Given the description of an element on the screen output the (x, y) to click on. 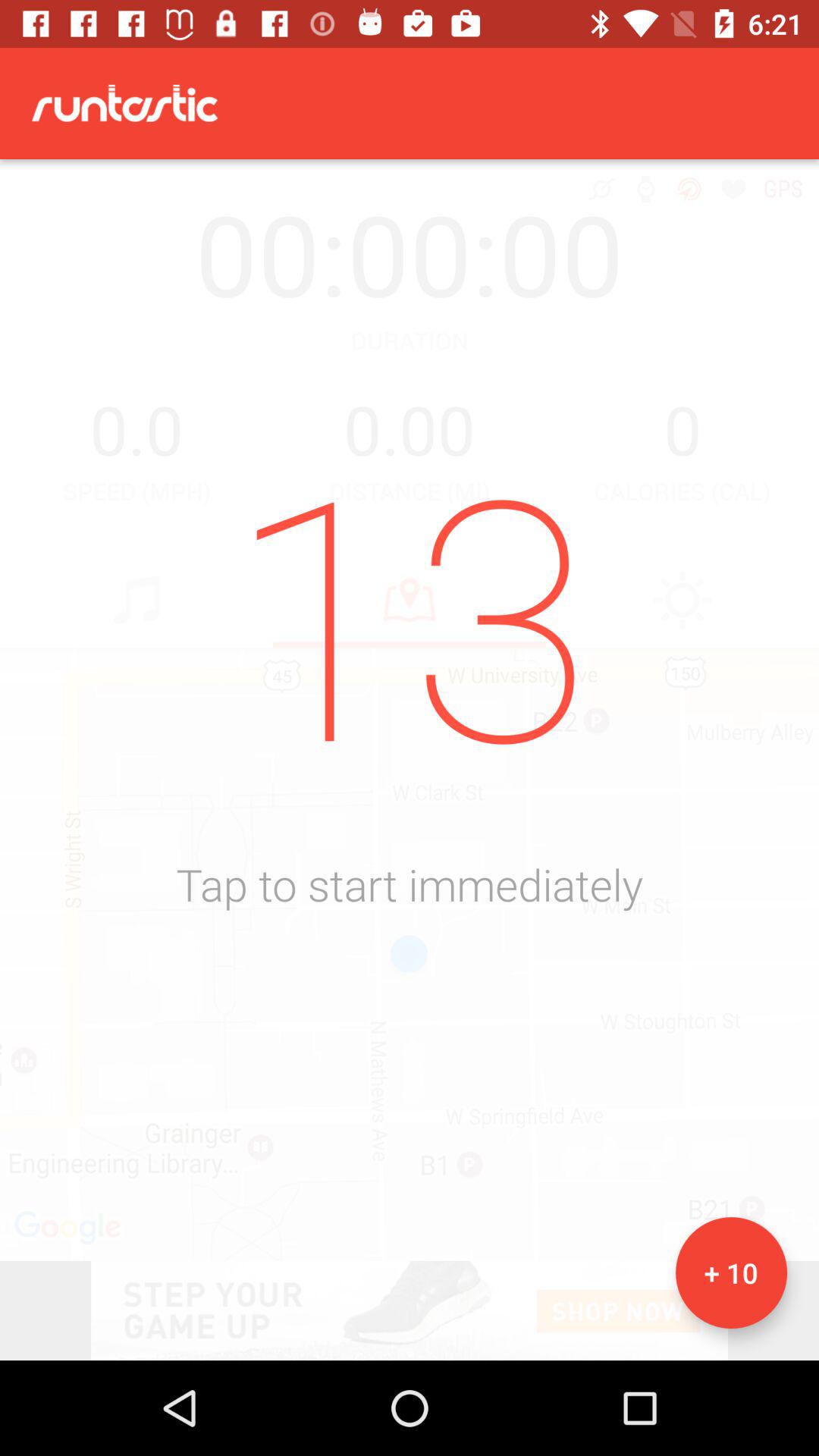
select the text runtastic (124, 103)
click on the icon which is at the bottom right of the page (731, 1273)
